Given the description of an element on the screen output the (x, y) to click on. 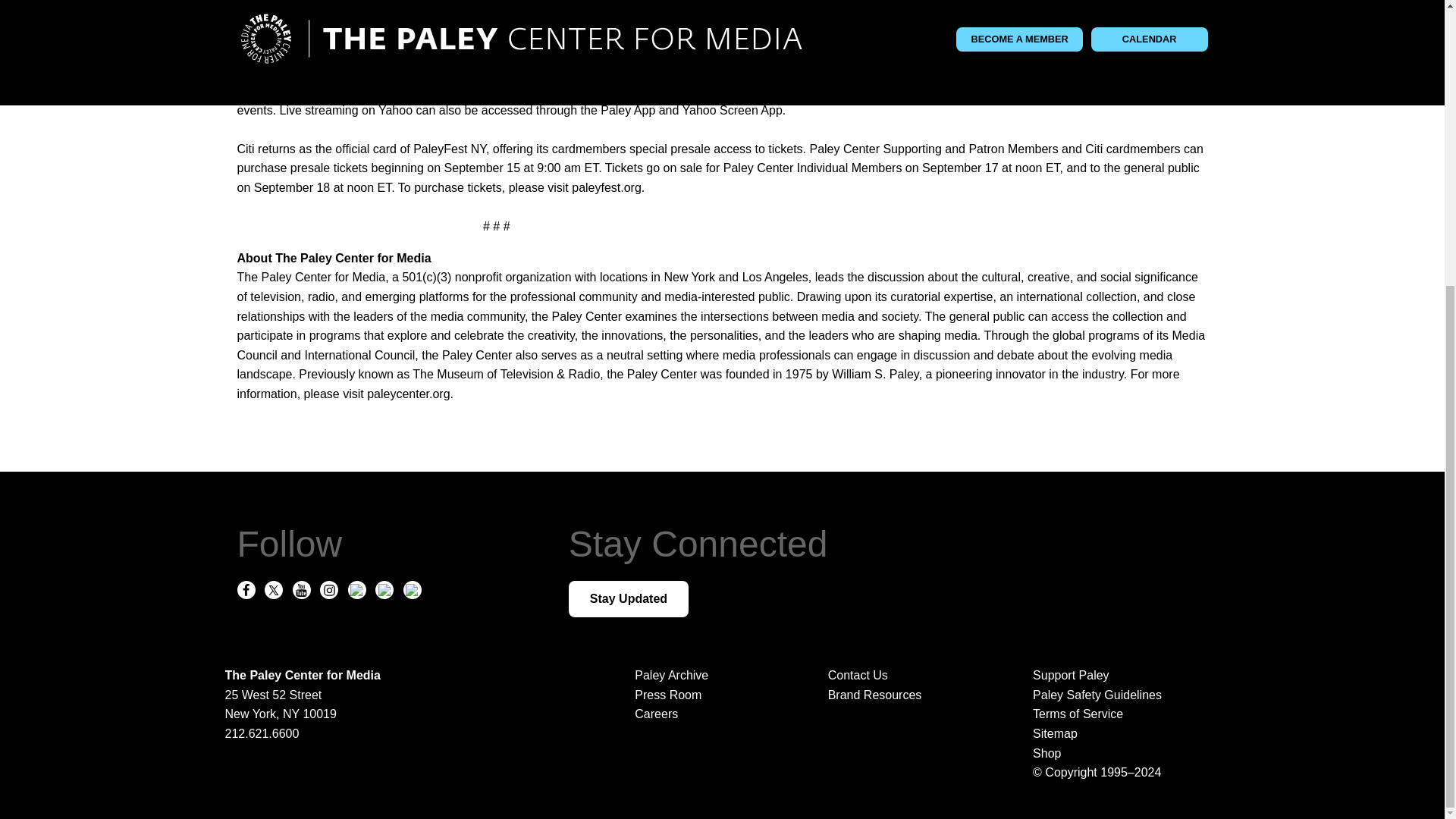
Support Paley (1119, 675)
Press Room (667, 694)
Stay Updated (628, 598)
Contact Us (858, 675)
Careers (656, 713)
Paley Safety Guidelines (1119, 695)
Sitemap (1119, 733)
Terms of Service (1119, 713)
Brand Resources (874, 694)
Paley Archive (670, 675)
